Given the description of an element on the screen output the (x, y) to click on. 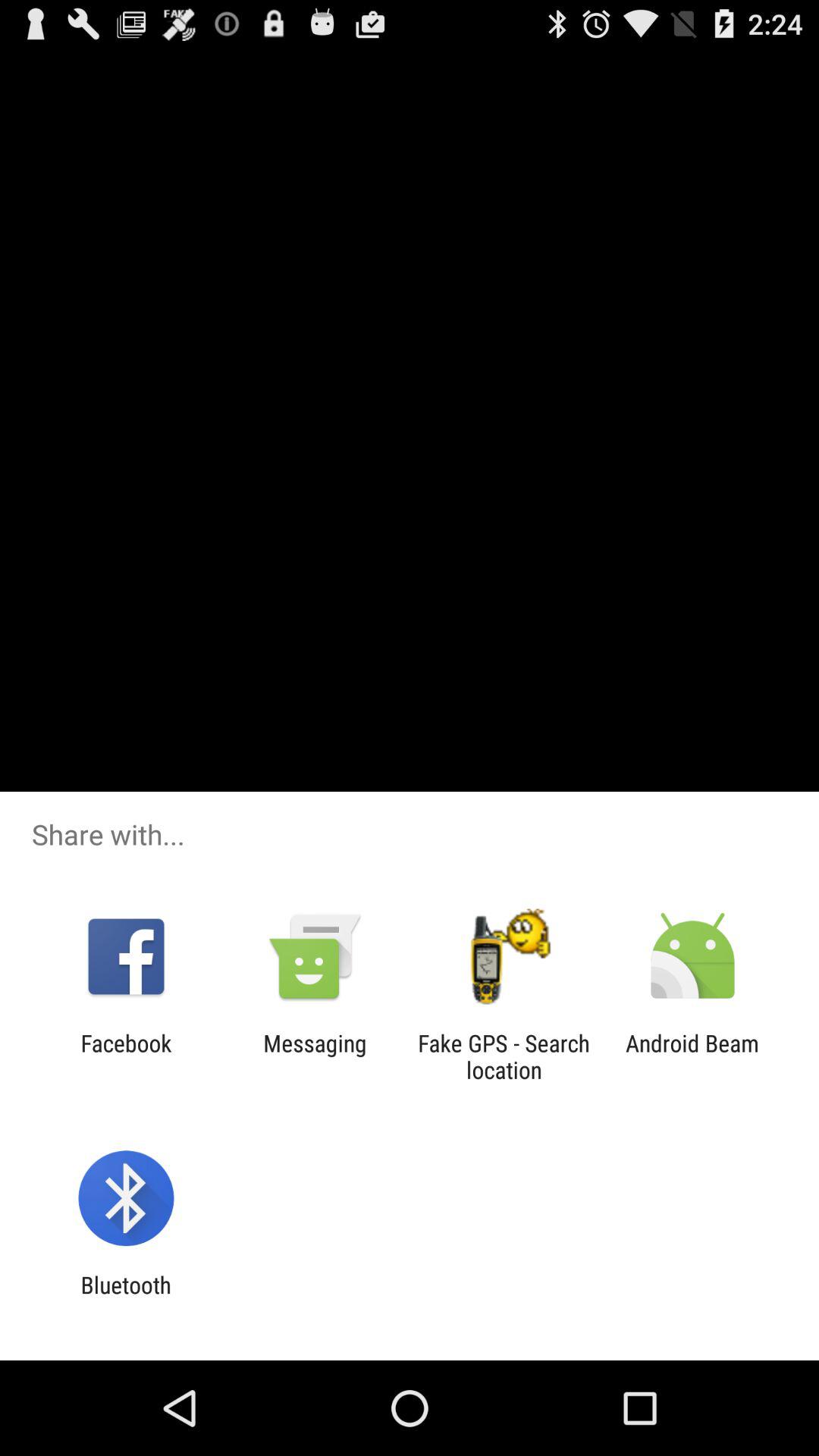
tap facebook icon (125, 1056)
